Given the description of an element on the screen output the (x, y) to click on. 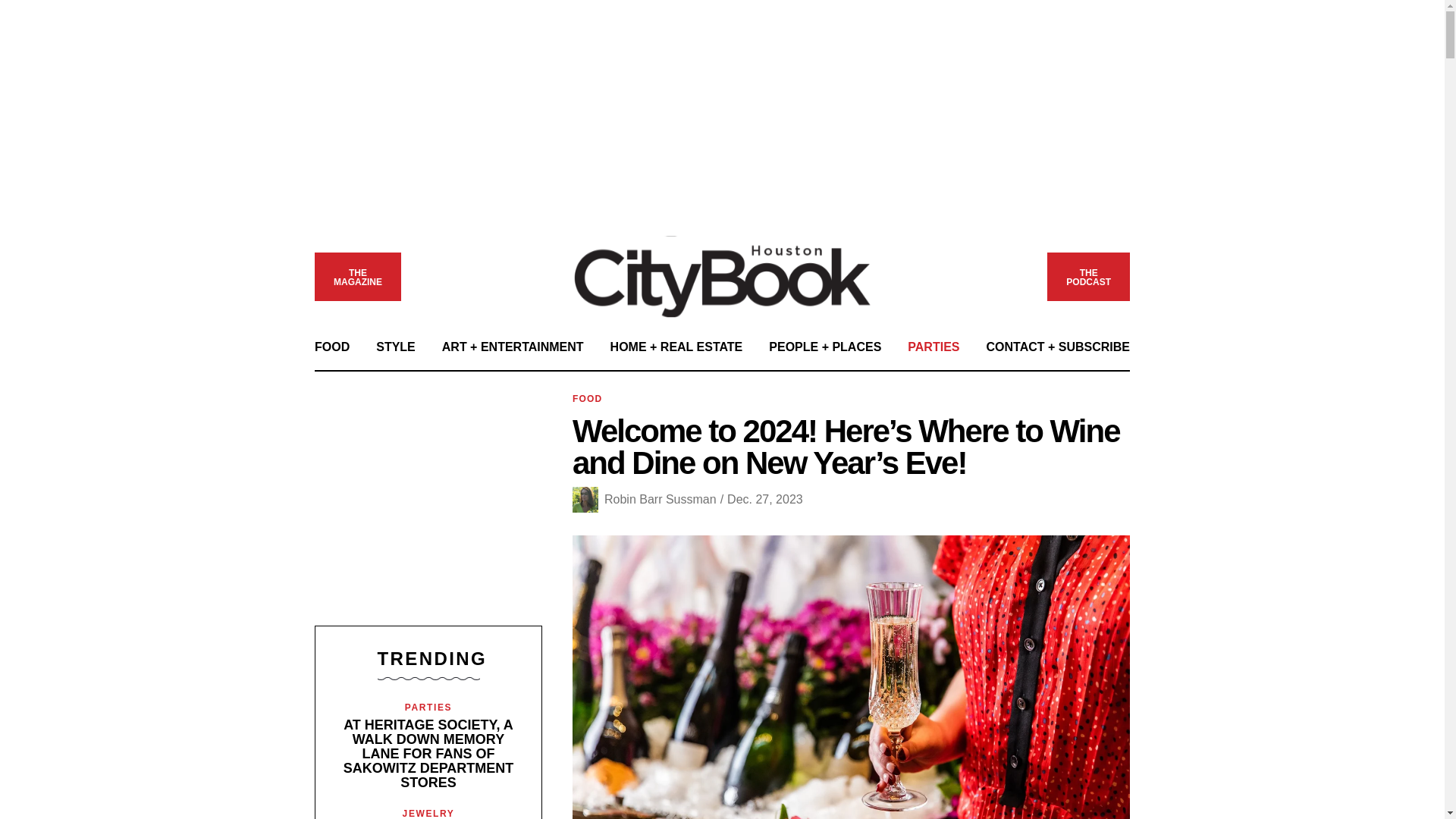
STYLE (394, 346)
Houston CityBook logo (724, 276)
FOOD (331, 346)
Home (357, 277)
Uncategorized (1087, 277)
